Given the description of an element on the screen output the (x, y) to click on. 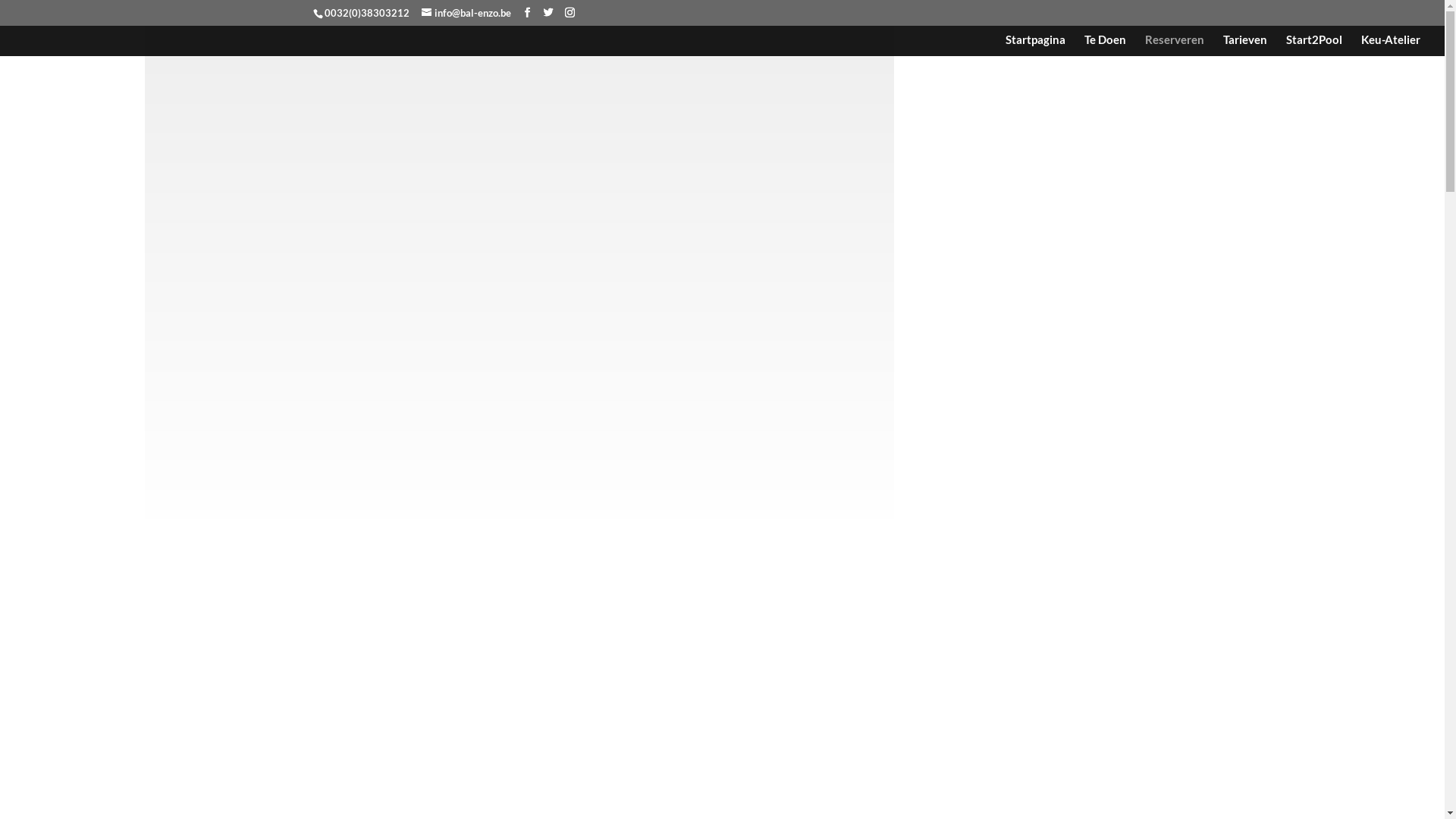
Startpagina Element type: text (1035, 45)
Start2Pool Element type: text (1314, 45)
Te Doen Element type: text (1105, 45)
Keu-Atelier Element type: text (1390, 45)
info@bal-enzo.be Element type: text (466, 12)
Tarieven Element type: text (1245, 45)
Reserveren Element type: text (1174, 45)
